Given the description of an element on the screen output the (x, y) to click on. 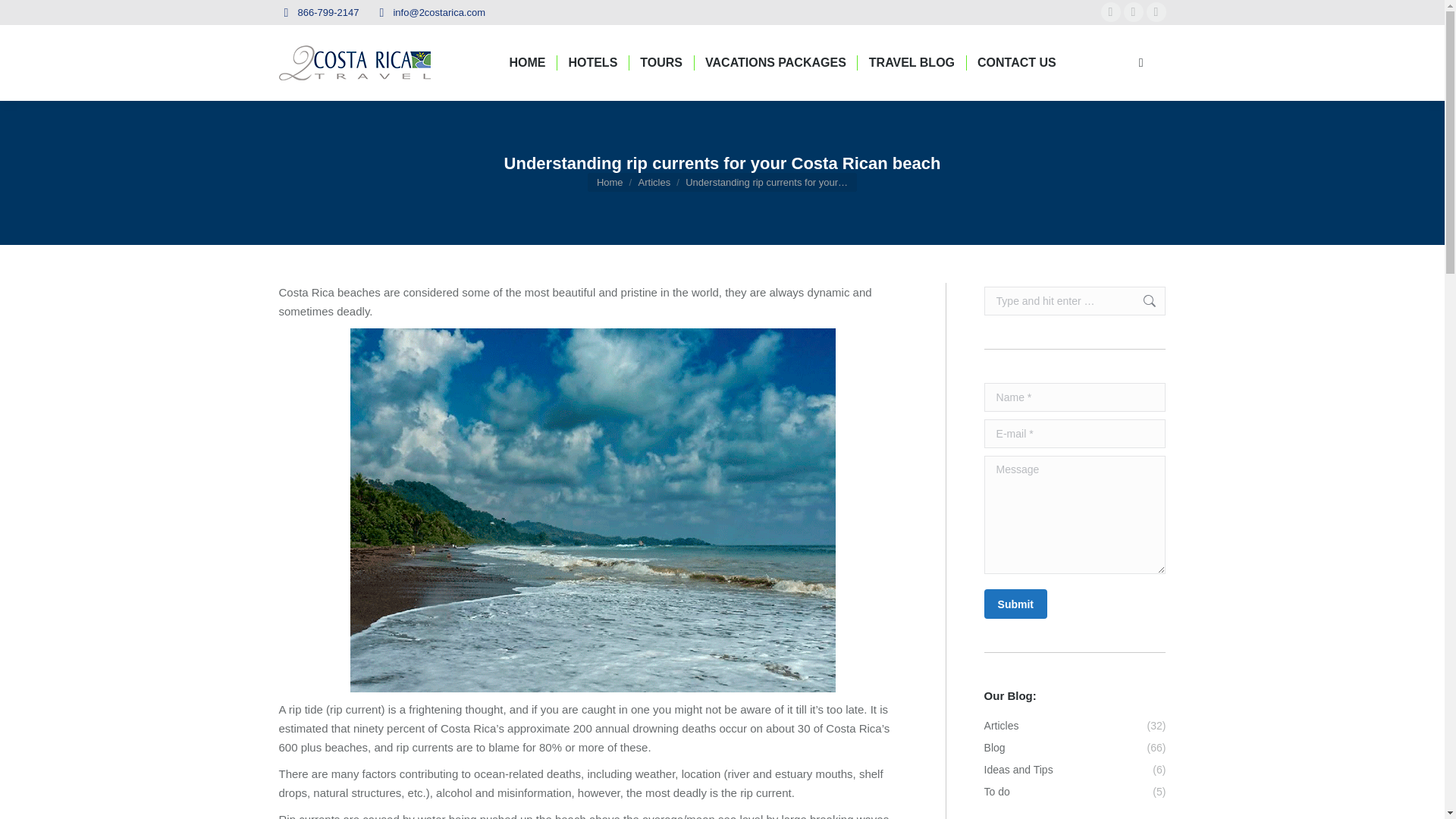
HOME (526, 62)
Twitter page opens in new window (1133, 12)
Twitter page opens in new window (1133, 12)
HOTELS (592, 62)
Go! (1141, 300)
Articles (655, 182)
Facebook page opens in new window (1110, 12)
Go! (1141, 300)
YouTube page opens in new window (1156, 12)
Facebook page opens in new window (1110, 12)
